Given the description of an element on the screen output the (x, y) to click on. 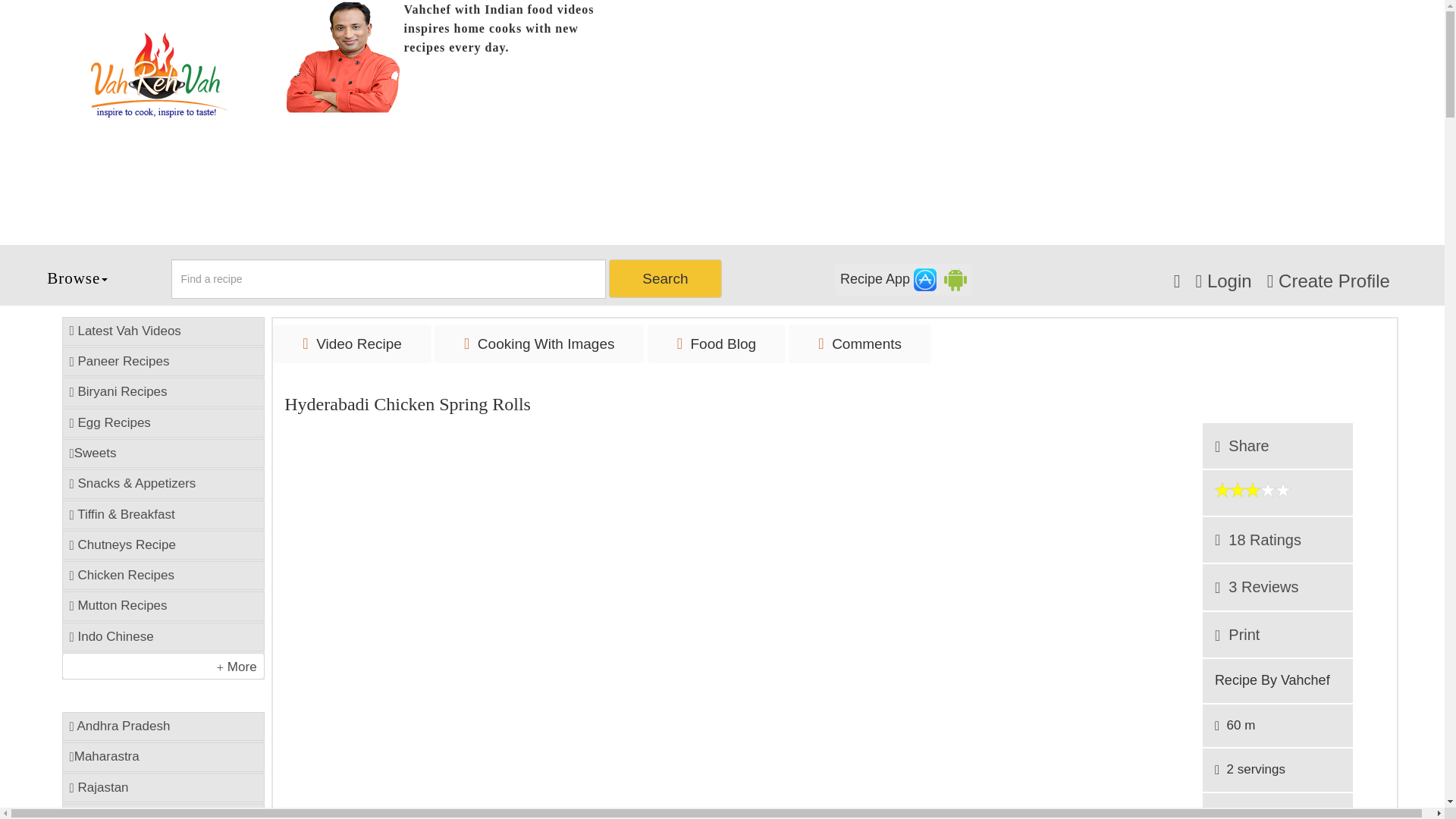
 Create Profile (1328, 281)
Recipe App    (903, 279)
 Login (1222, 281)
Search (664, 278)
sanjay thumma (343, 56)
vahrehvah (158, 74)
